Given the description of an element on the screen output the (x, y) to click on. 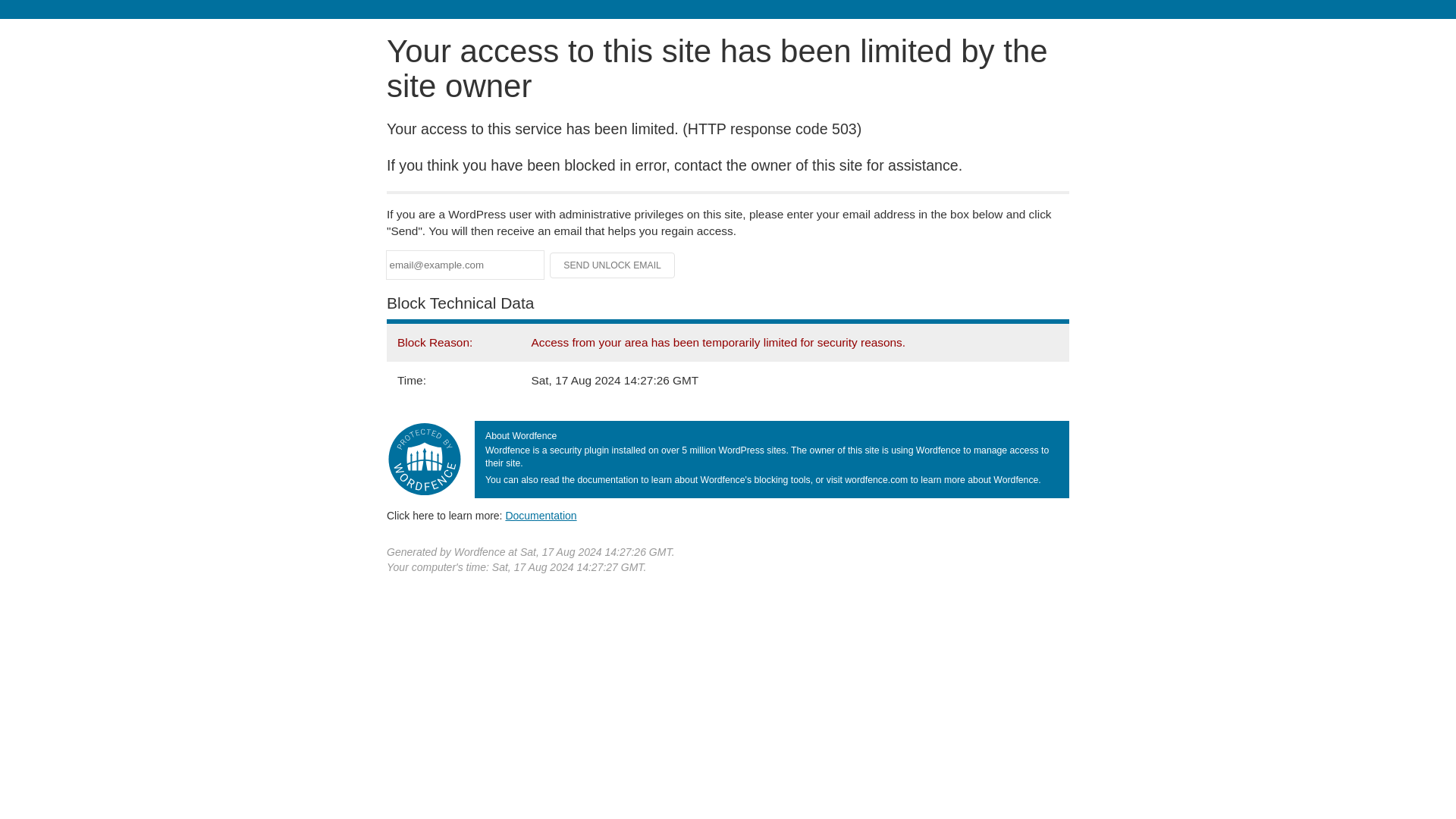
Documentation (540, 515)
Send Unlock Email (612, 265)
Send Unlock Email (612, 265)
